Given the description of an element on the screen output the (x, y) to click on. 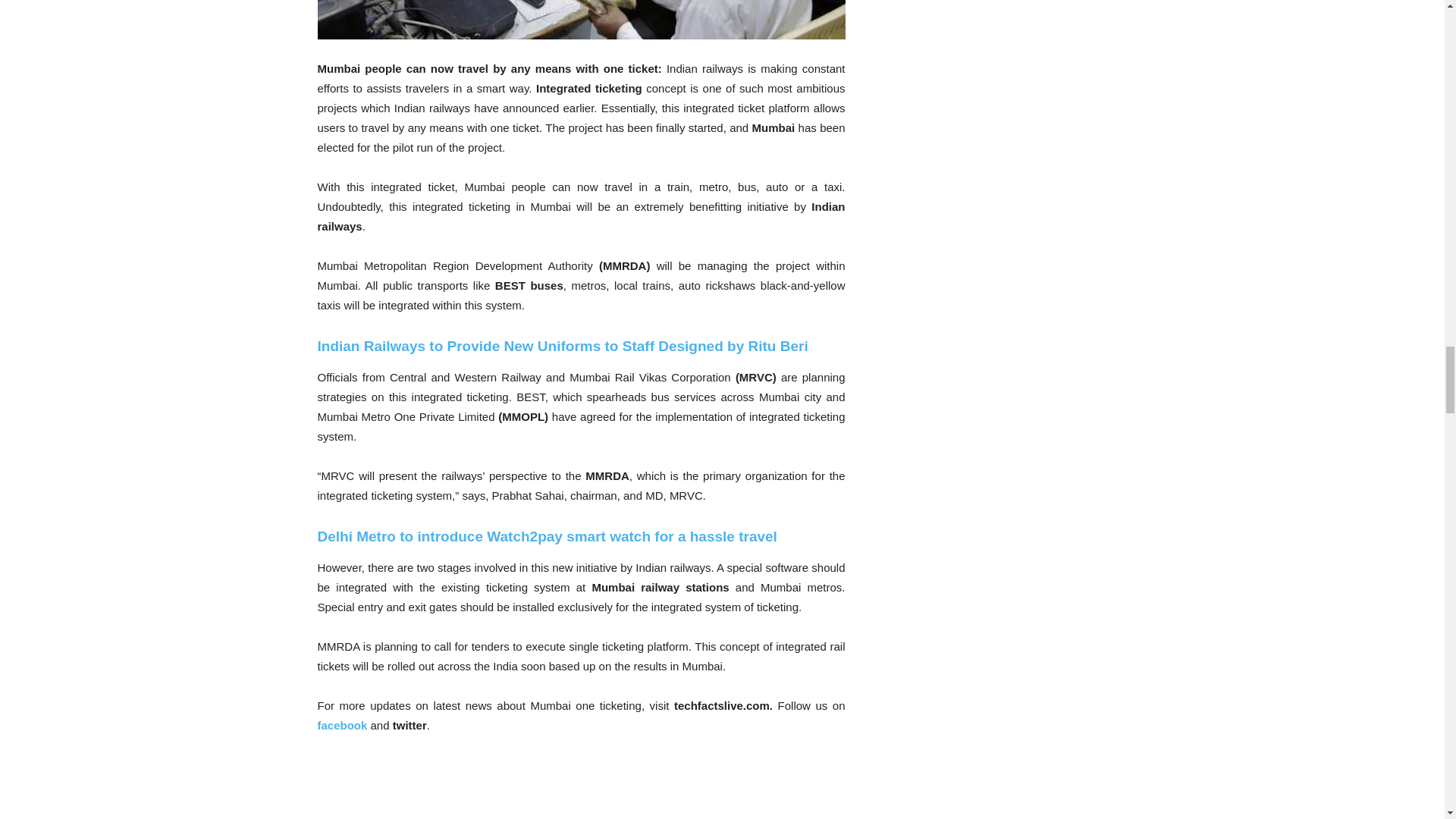
Whistle Feed Ads (430, 790)
integrated ticketing (580, 19)
